Given the description of an element on the screen output the (x, y) to click on. 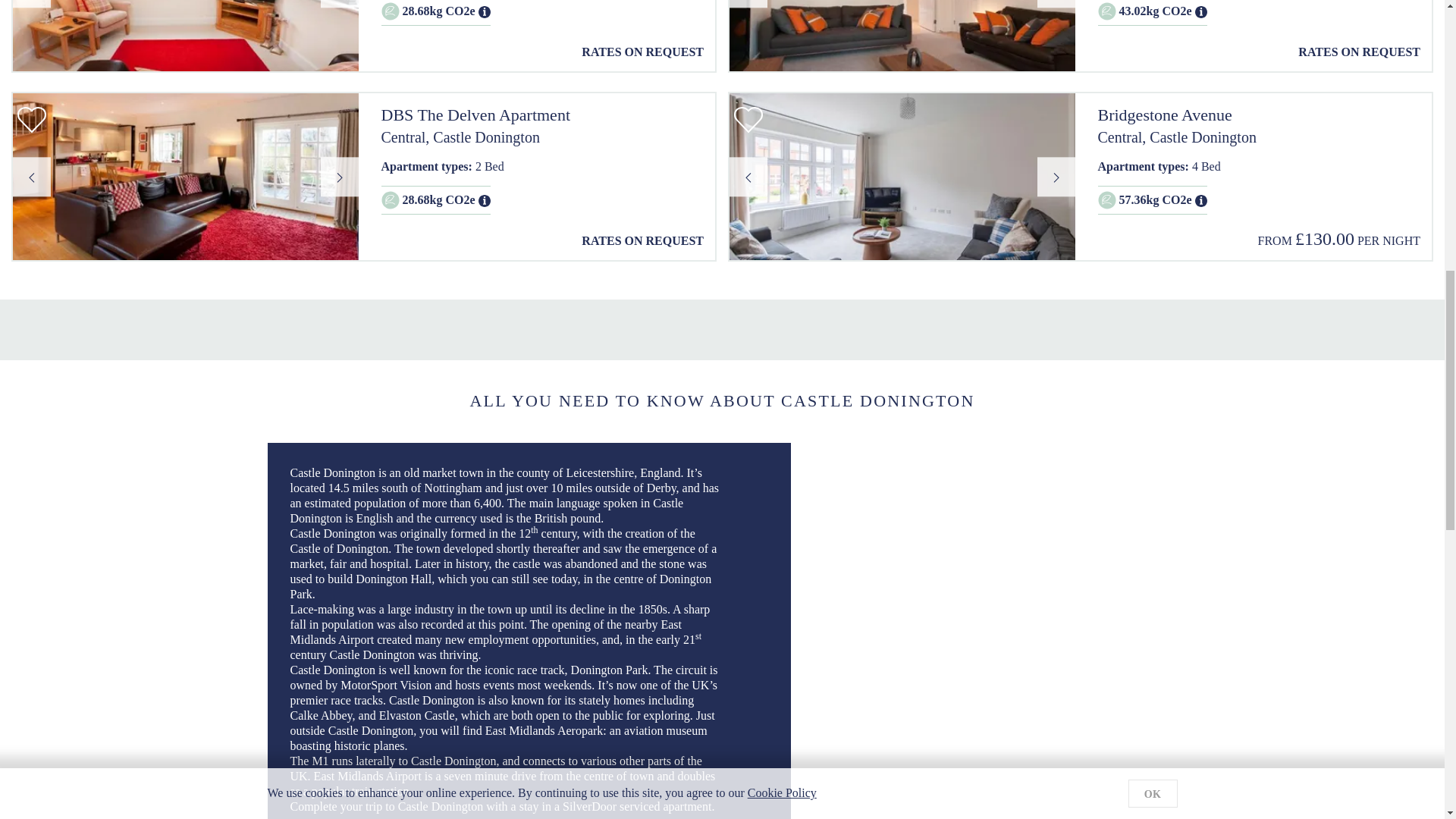
DBS The Delven Apartment (541, 115)
